Given the description of an element on the screen output the (x, y) to click on. 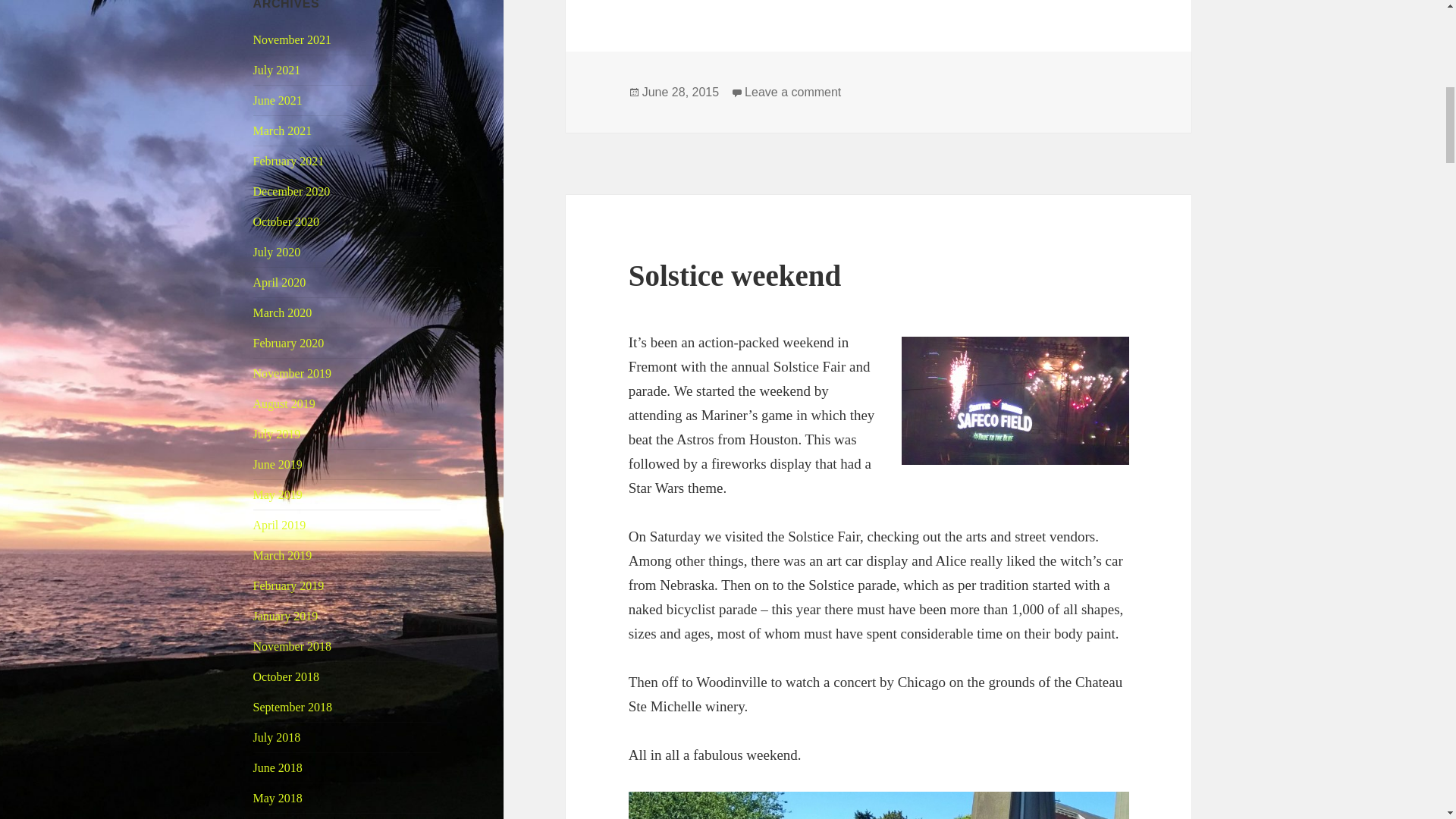
April 2019 (279, 524)
April 2020 (279, 282)
February 2021 (288, 160)
September 2018 (292, 707)
November 2019 (292, 373)
July 2020 (277, 251)
June 2021 (277, 100)
May 2019 (277, 494)
August 2019 (284, 403)
October 2020 (286, 221)
October 2018 (286, 676)
July 2021 (277, 69)
February 2020 (288, 342)
November 2018 (292, 645)
March 2019 (283, 554)
